Given the description of an element on the screen output the (x, y) to click on. 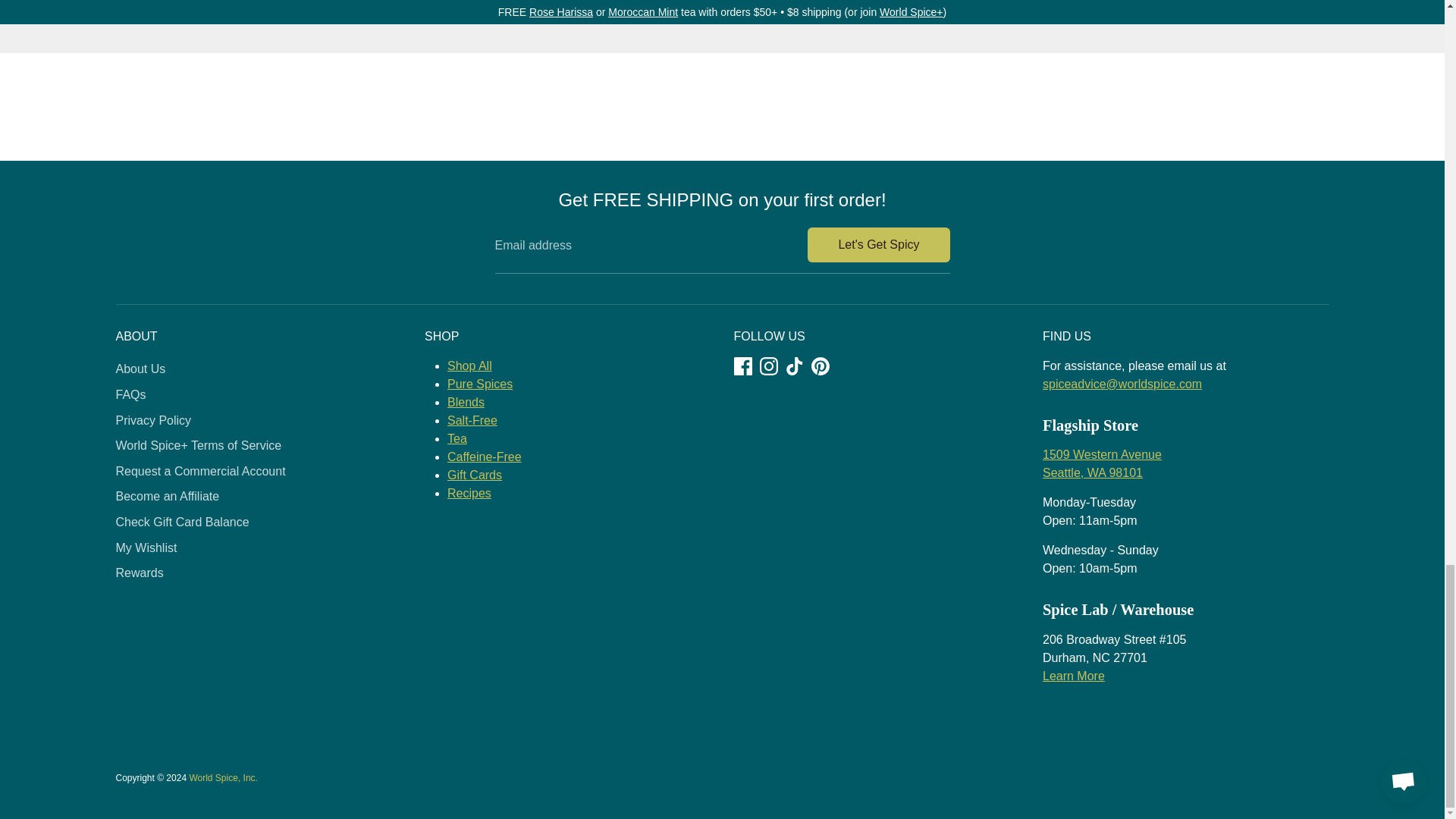
Shop All (469, 365)
World Spice Gift Card (474, 474)
